Given the description of an element on the screen output the (x, y) to click on. 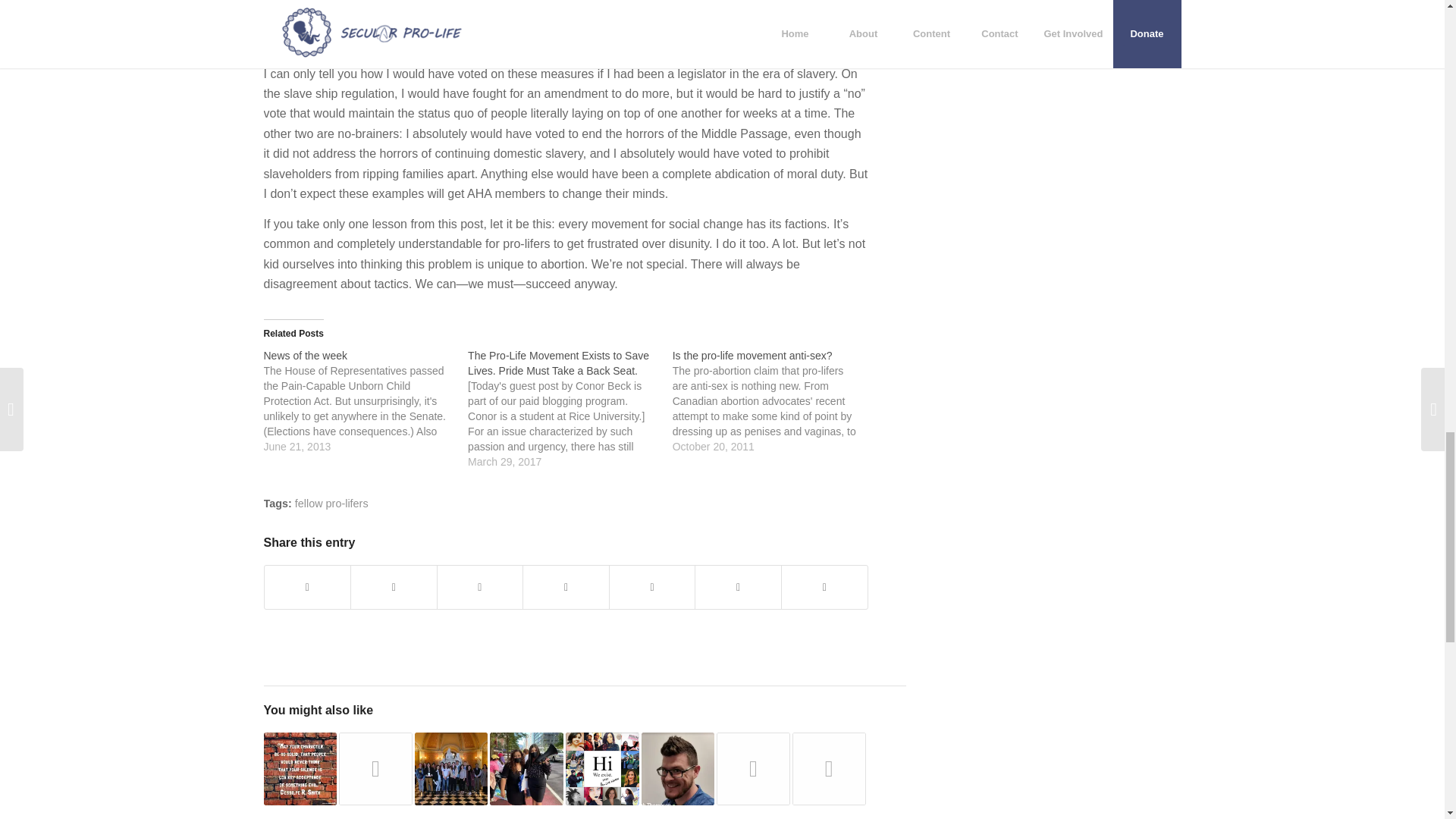
News of the week (365, 401)
News of the week (305, 355)
Is the pro-life movement anti-sex? (774, 401)
Is the pro-life movement anti-sex? (752, 355)
